Given the description of an element on the screen output the (x, y) to click on. 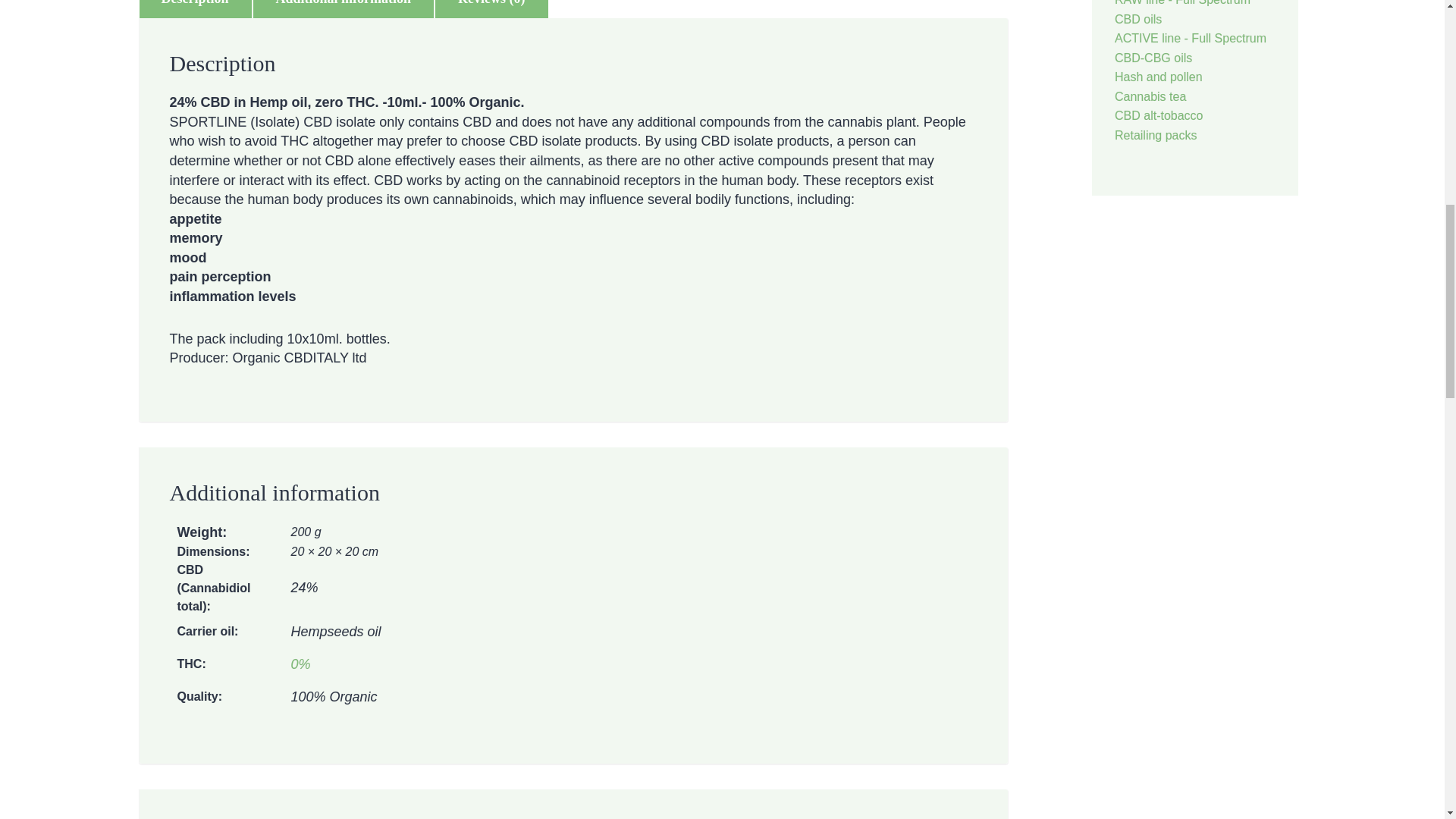
Additional information (344, 7)
Description (194, 7)
